Given the description of an element on the screen output the (x, y) to click on. 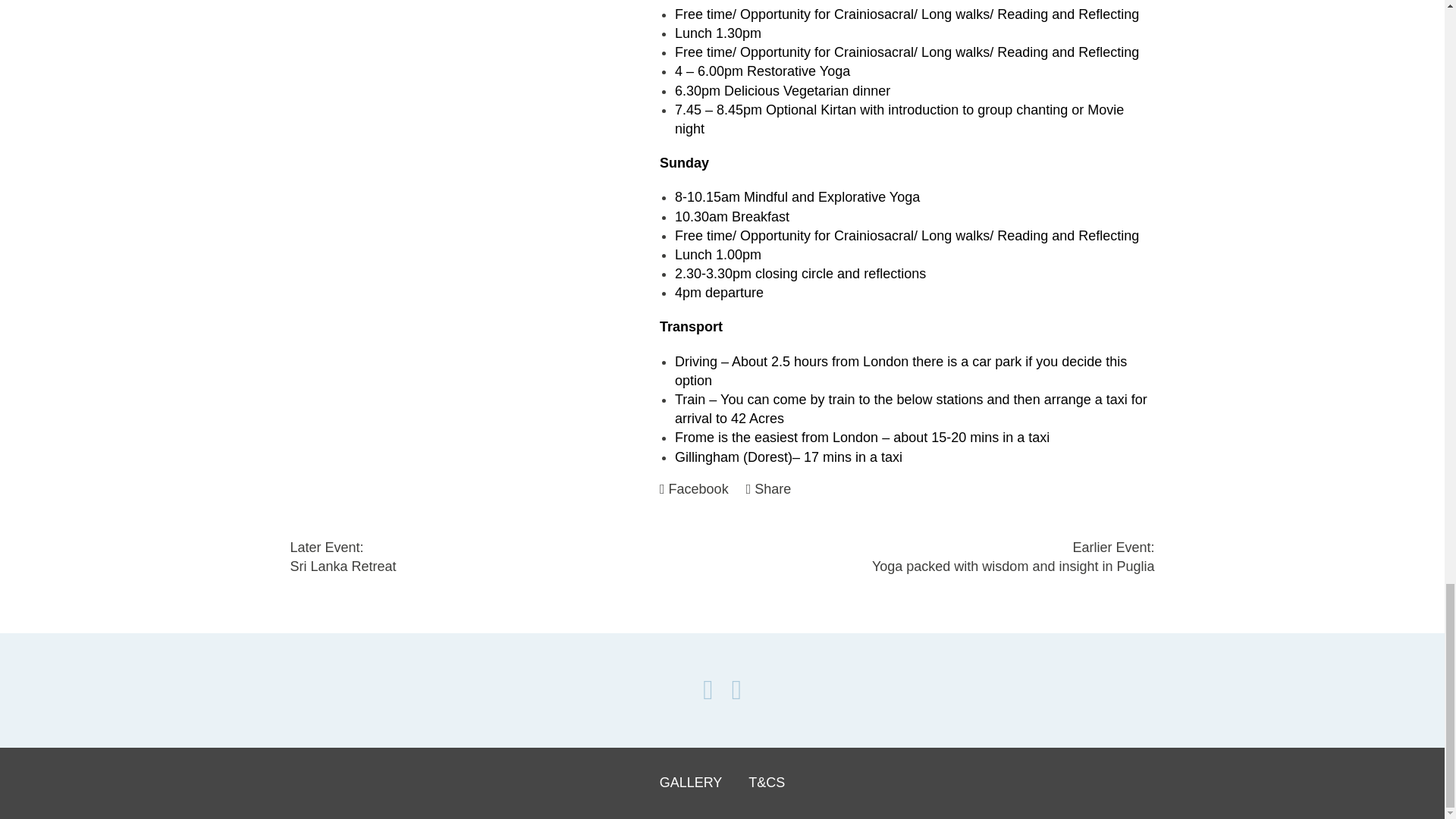
Share (768, 488)
Facebook (505, 557)
GALLERY (695, 488)
